Given the description of an element on the screen output the (x, y) to click on. 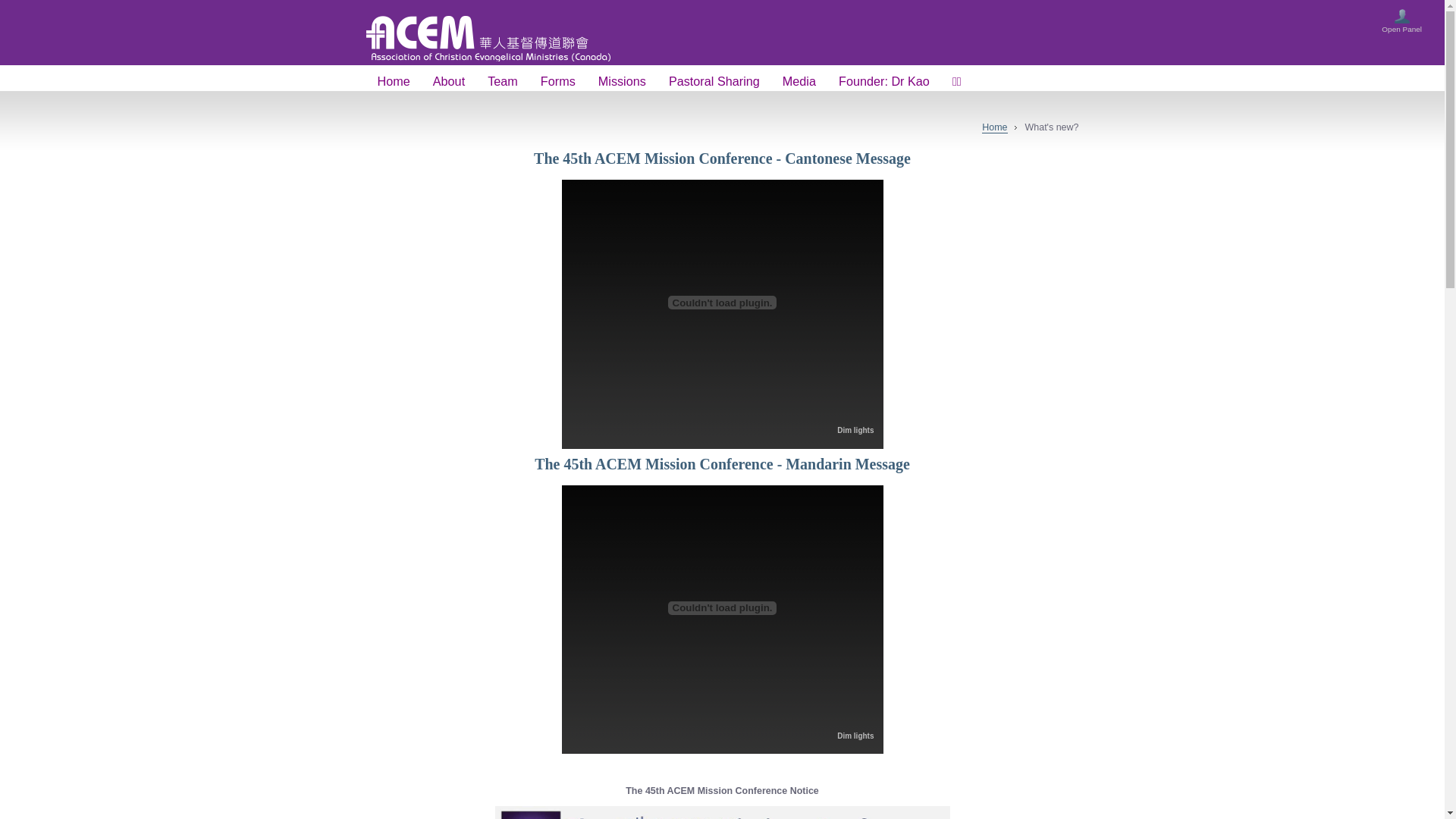
Founder: Dr Kao Element type: text (884, 81)
Dim lights Element type: text (855, 430)
Home Element type: text (392, 81)
Team Element type: text (502, 81)
Home Element type: text (994, 127)
Open Panel Element type: text (1401, 23)
Dim lights Element type: text (855, 735)
Pastoral Sharing Element type: text (714, 81)
Missions Element type: text (621, 81)
About Element type: text (448, 81)
Forms Element type: text (557, 81)
JoomlaWorks AllVideos Player Element type: hover (721, 607)
JoomlaWorks AllVideos Player Element type: hover (721, 302)
Media Element type: text (799, 81)
